Given the description of an element on the screen output the (x, y) to click on. 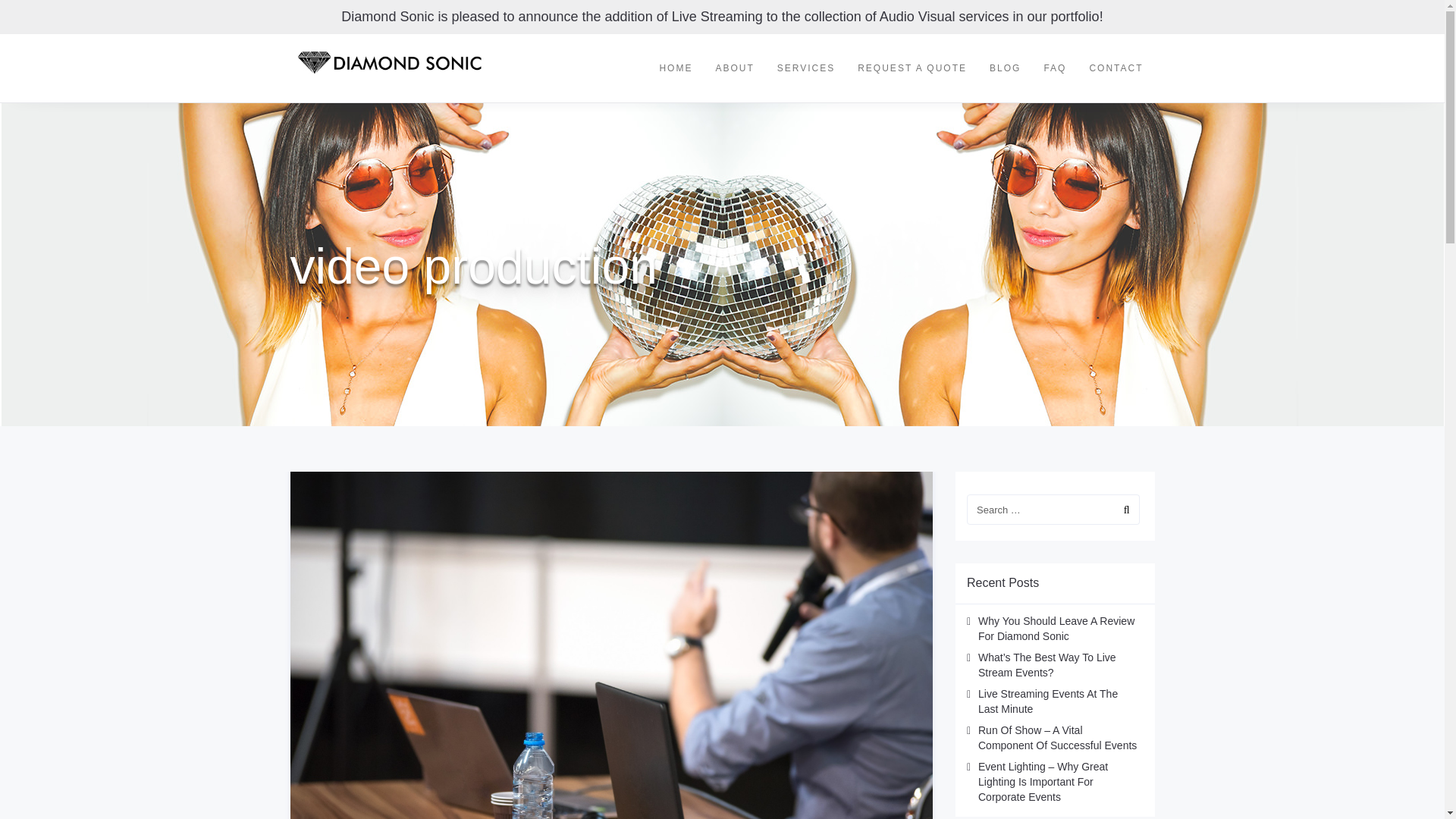
SERVICES (805, 68)
CONTACT (1115, 68)
Live Streaming Events At The Last Minute (1048, 700)
REQUEST A QUOTE (911, 68)
Why You Should Leave A Review For Diamond Sonic (1056, 628)
ABOUT (734, 68)
